Given the description of an element on the screen output the (x, y) to click on. 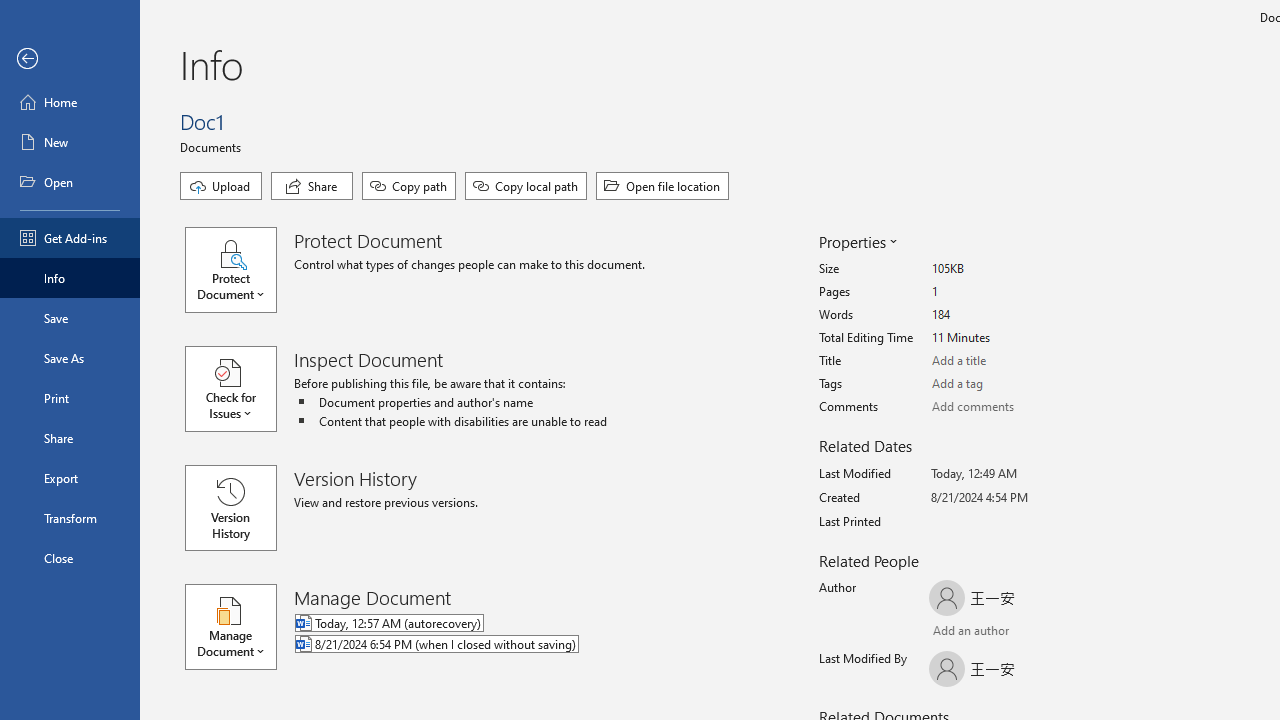
Version History (230, 507)
Transform (69, 517)
Open file location (662, 186)
Verify Names (983, 632)
Browse Address Book (1047, 633)
Documents (213, 146)
Total Editing Time (1006, 338)
 8/21/2024 6:54 PM (when I closed without saving) (518, 645)
Export (69, 477)
